Given the description of an element on the screen output the (x, y) to click on. 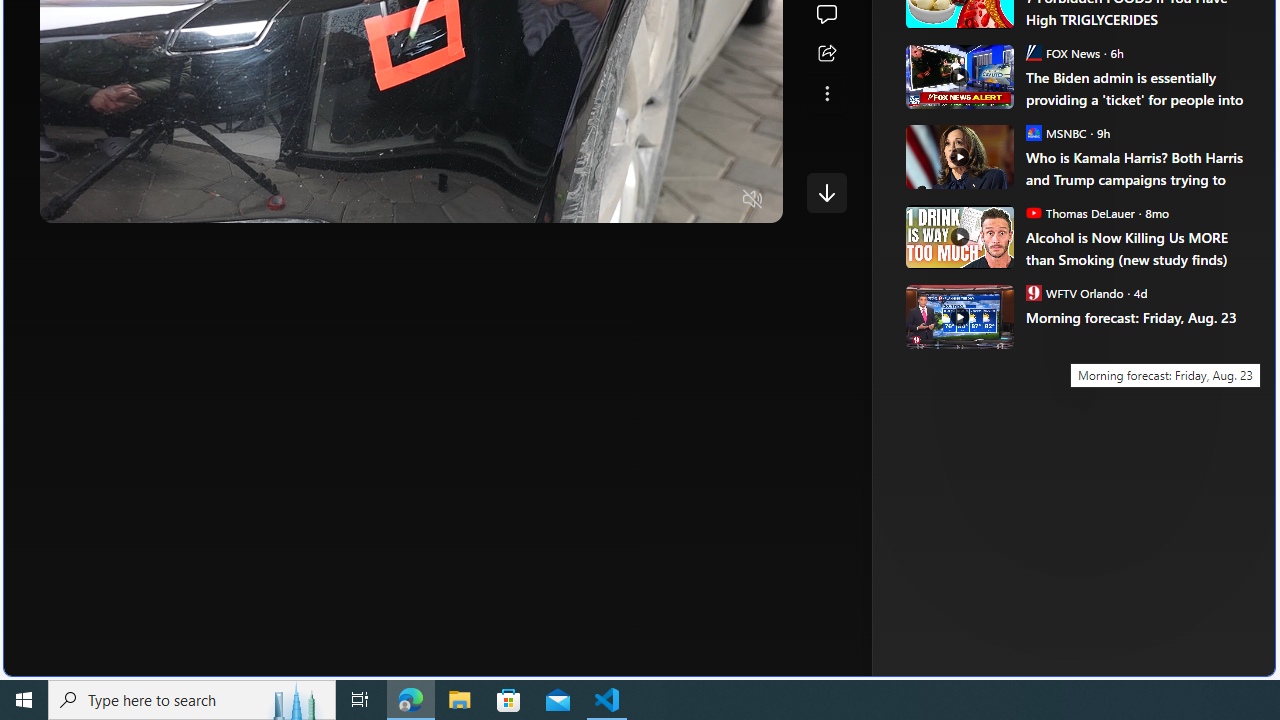
Share this story (826, 53)
MSNBC (1033, 132)
Summer Sale! Up to -55% (1084, 284)
WFTV Orlando (1033, 291)
FOX News (1033, 52)
Seek Back (109, 200)
Seek Forward (150, 200)
Morning forecast: Friday, Aug. 23 (958, 316)
Fullscreen (714, 200)
